Given the description of an element on the screen output the (x, y) to click on. 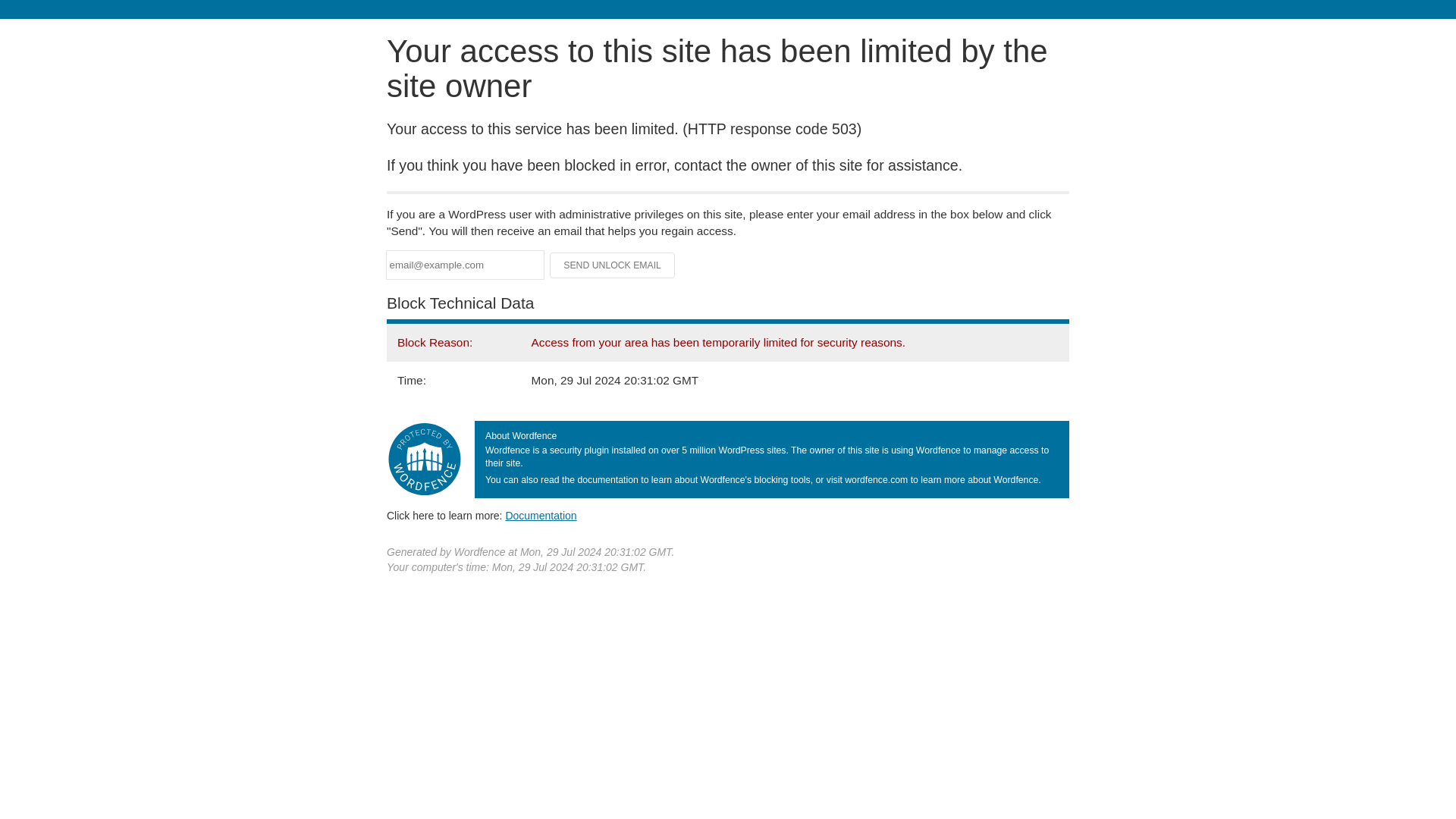
Documentation (540, 515)
Send Unlock Email (612, 265)
Send Unlock Email (612, 265)
